Given the description of an element on the screen output the (x, y) to click on. 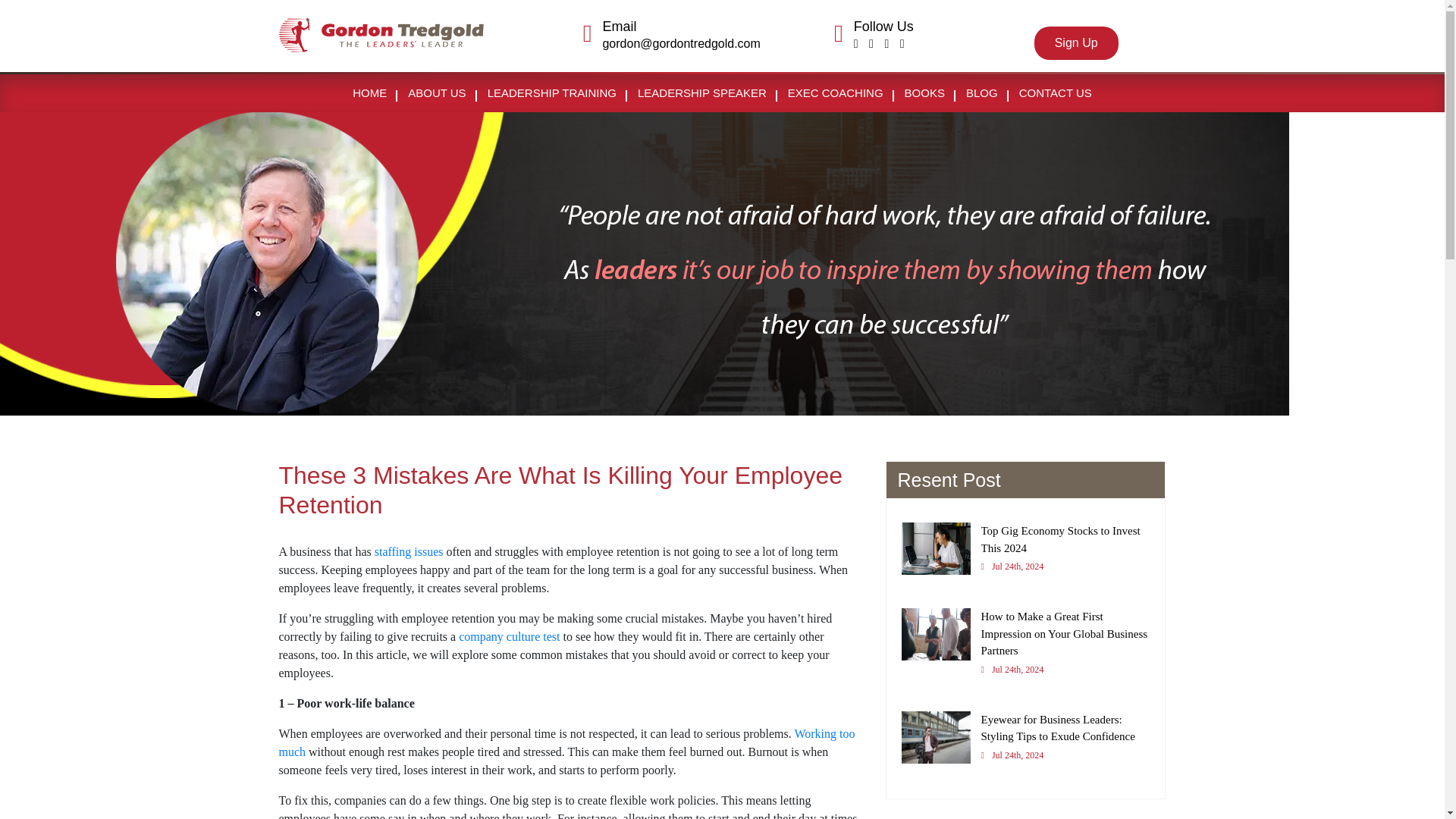
HOME (369, 92)
BLOG (982, 92)
BOOKS (924, 92)
LEADERSHIP SPEAKER (702, 92)
LEADERSHIP TRAINING (552, 92)
ABOUT US (1025, 553)
company culture test (436, 92)
EXEC COACHING (508, 635)
staffing issues (835, 92)
CONTACT US (409, 551)
Sign Up (1055, 92)
Working too much (1075, 42)
